Given the description of an element on the screen output the (x, y) to click on. 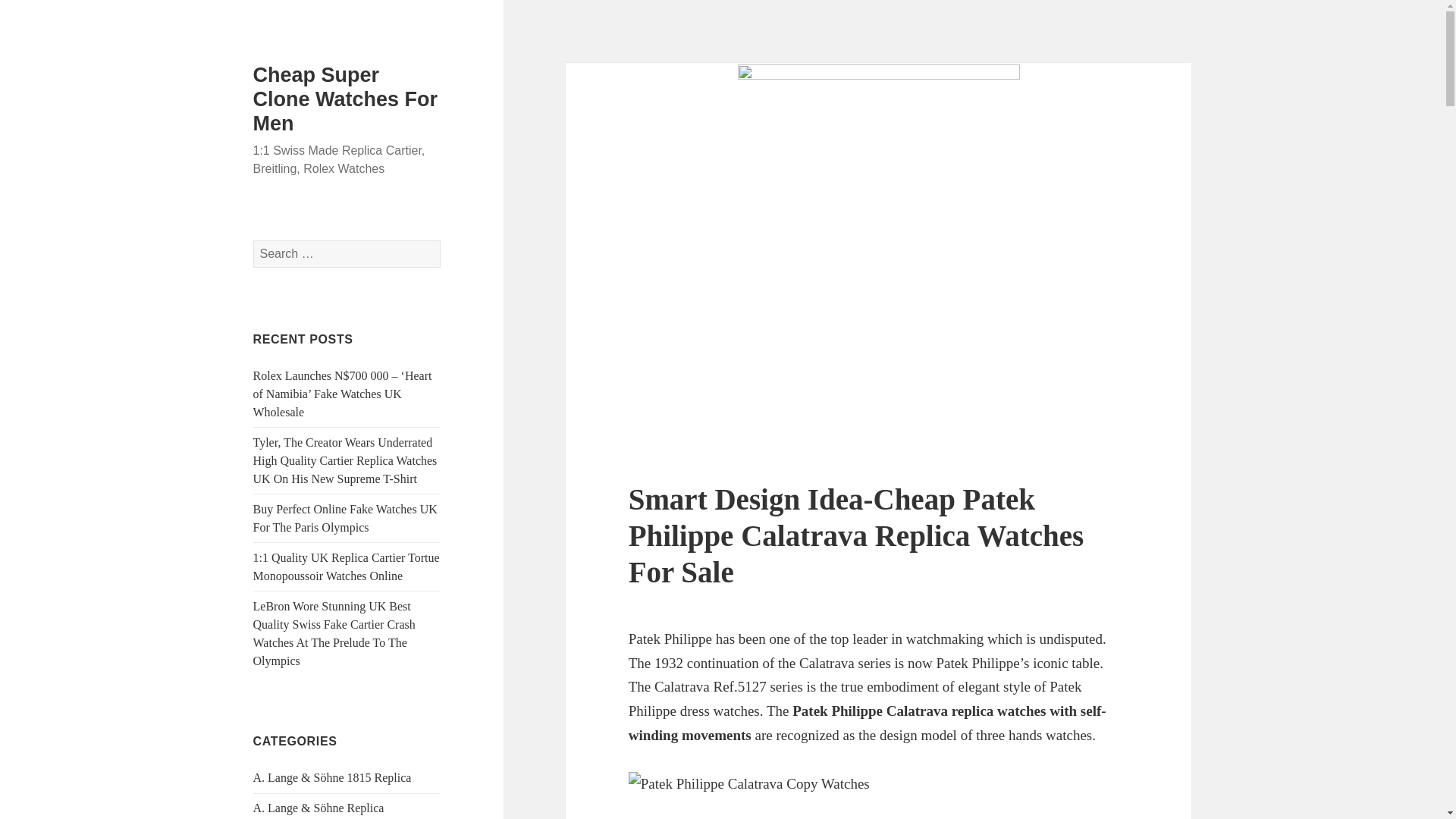
Cheap Super Clone Watches For Men (345, 99)
Buy Perfect Online Fake Watches UK For The Paris Olympics (345, 517)
